Given the description of an element on the screen output the (x, y) to click on. 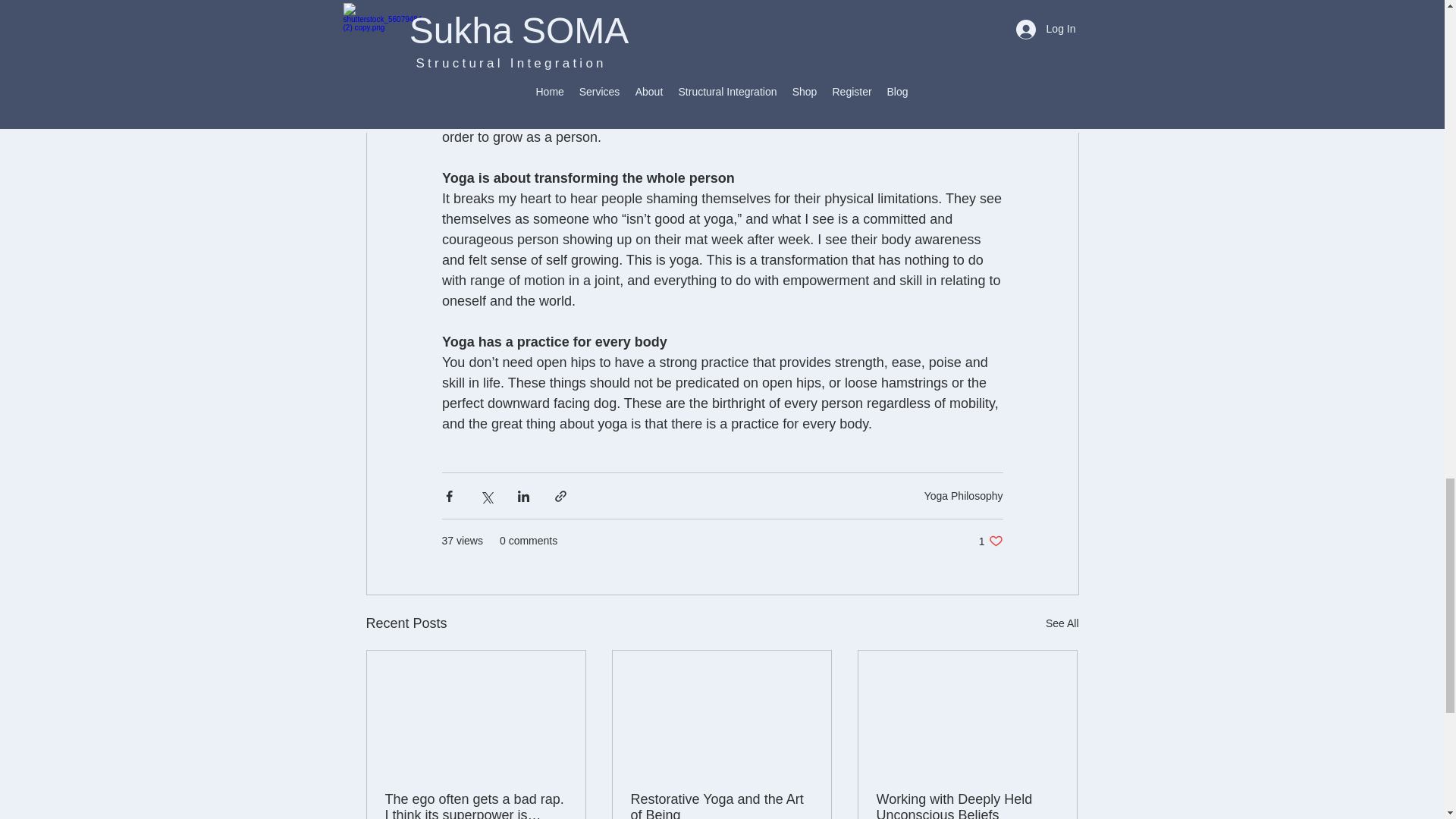
Yoga Philosophy (990, 540)
See All (963, 495)
Restorative Yoga and the Art of Being (1061, 623)
